Given the description of an element on the screen output the (x, y) to click on. 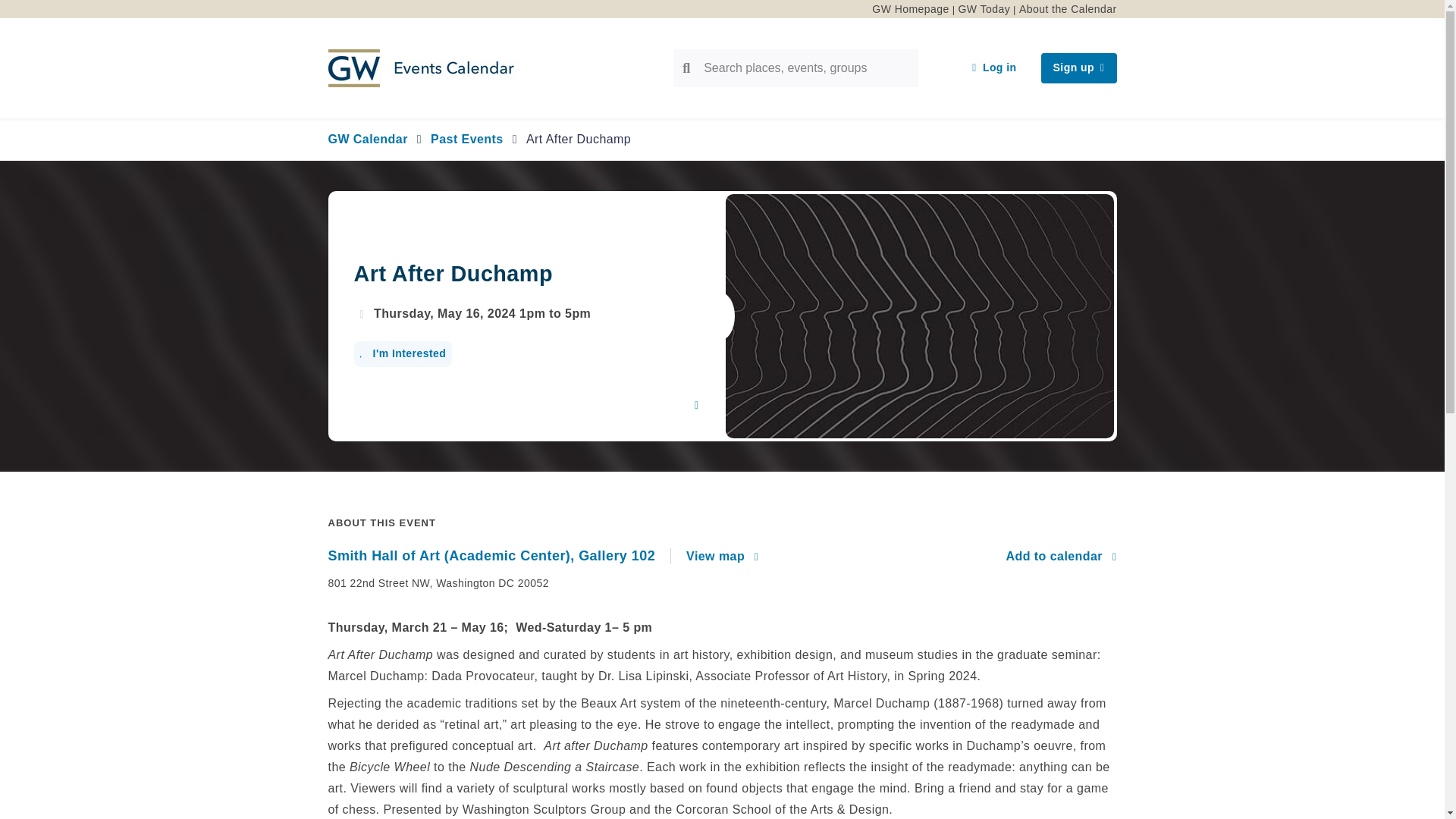
I'm Interested (402, 353)
GW Today (984, 9)
About the Calendar (1067, 9)
Log in (993, 68)
Sign up (1078, 68)
View map (721, 556)
Add to calendar (1061, 556)
Past Events (466, 138)
GW Homepage (910, 9)
GW Calendar (367, 138)
